Given the description of an element on the screen output the (x, y) to click on. 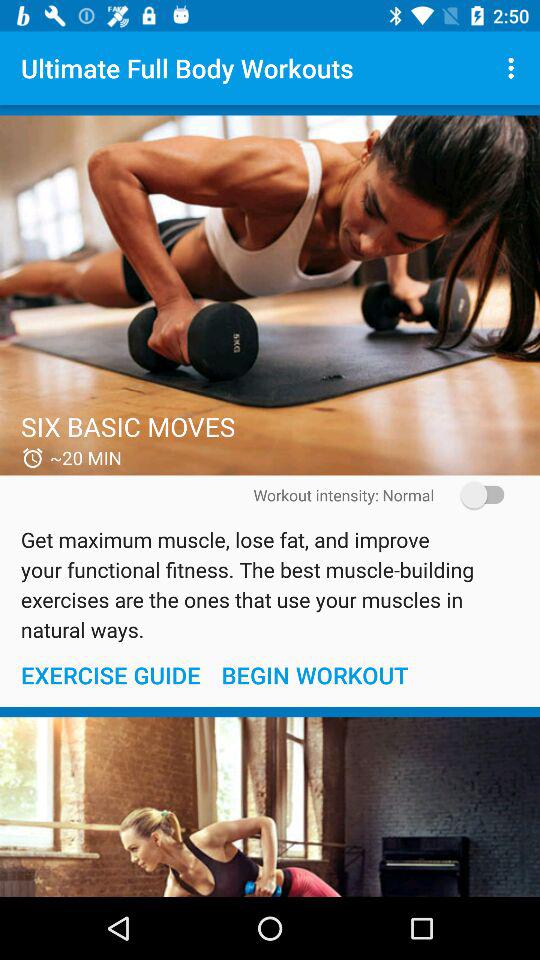
because back devicer (270, 295)
